Given the description of an element on the screen output the (x, y) to click on. 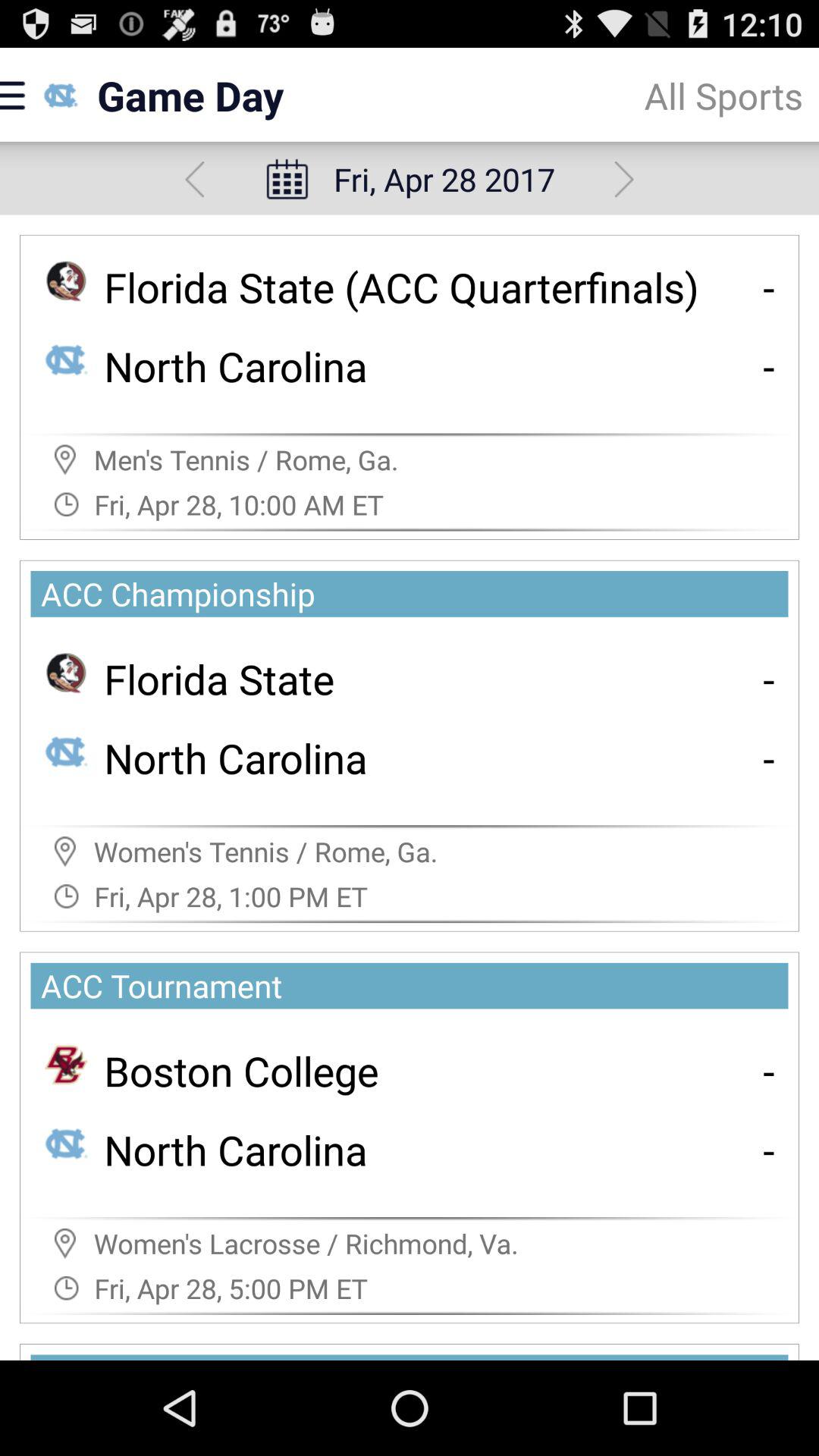
go to next date (623, 178)
